Given the description of an element on the screen output the (x, y) to click on. 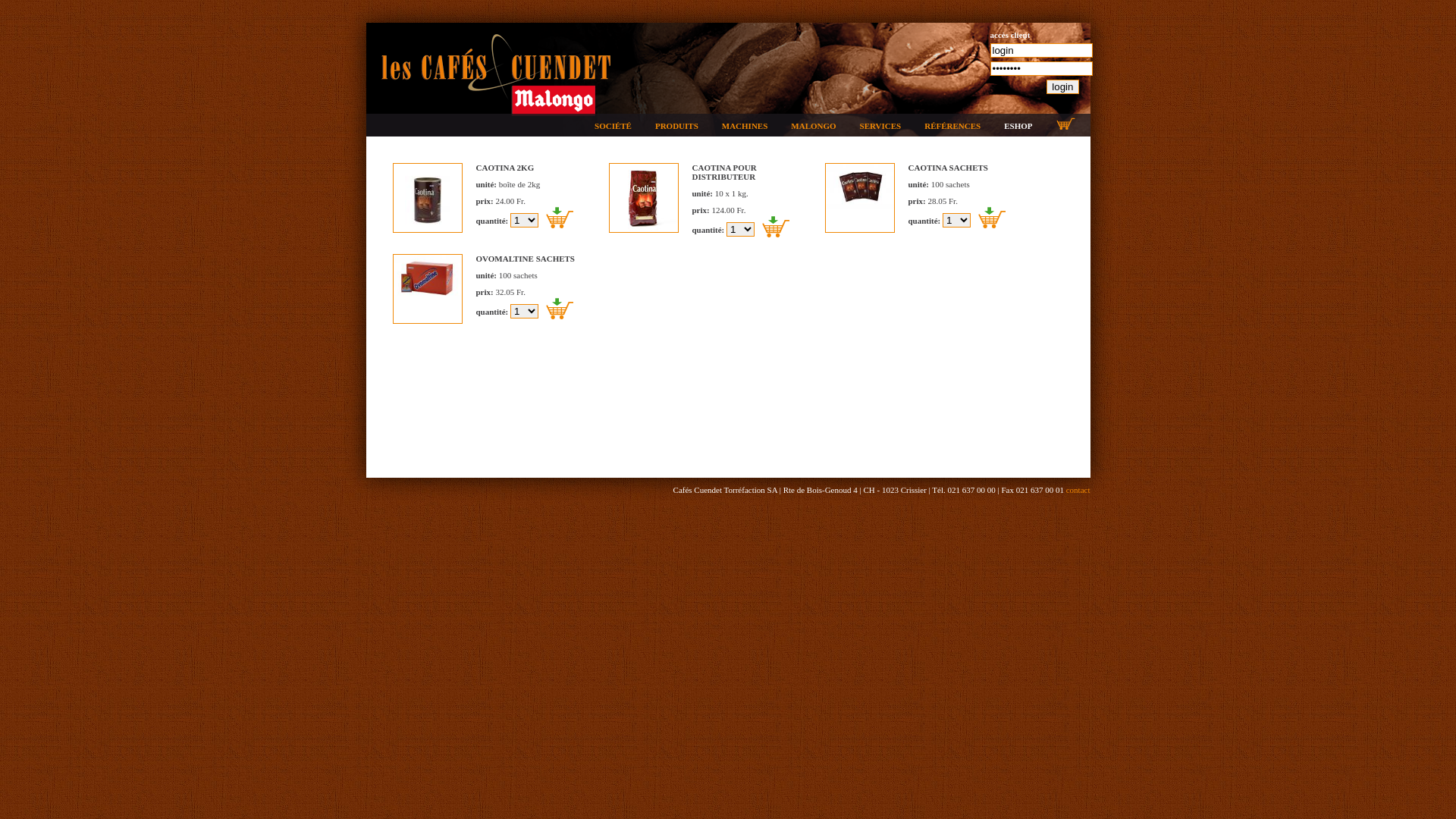
caotina 2kg, voir +... Element type: hover (427, 197)
MALONGO Element type: text (812, 125)
MACHINES Element type: text (744, 125)
article : 0 Element type: hover (1069, 124)
contact Element type: text (1078, 489)
caotina sachets, voir +... Element type: hover (859, 197)
mettre l'article dans le panier Element type: hover (559, 217)
Caotina, voir +... Element type: hover (642, 197)
login Element type: text (1062, 86)
mettre l'article dans le panier Element type: hover (991, 217)
PRODUITS Element type: text (676, 125)
ESHOP Element type: text (1018, 125)
SERVICES Element type: text (880, 125)
mettre l'article dans le panier Element type: hover (559, 308)
ovo sachets, voir +... Element type: hover (427, 288)
mettre l'article dans le panier Element type: hover (775, 226)
